Given the description of an element on the screen output the (x, y) to click on. 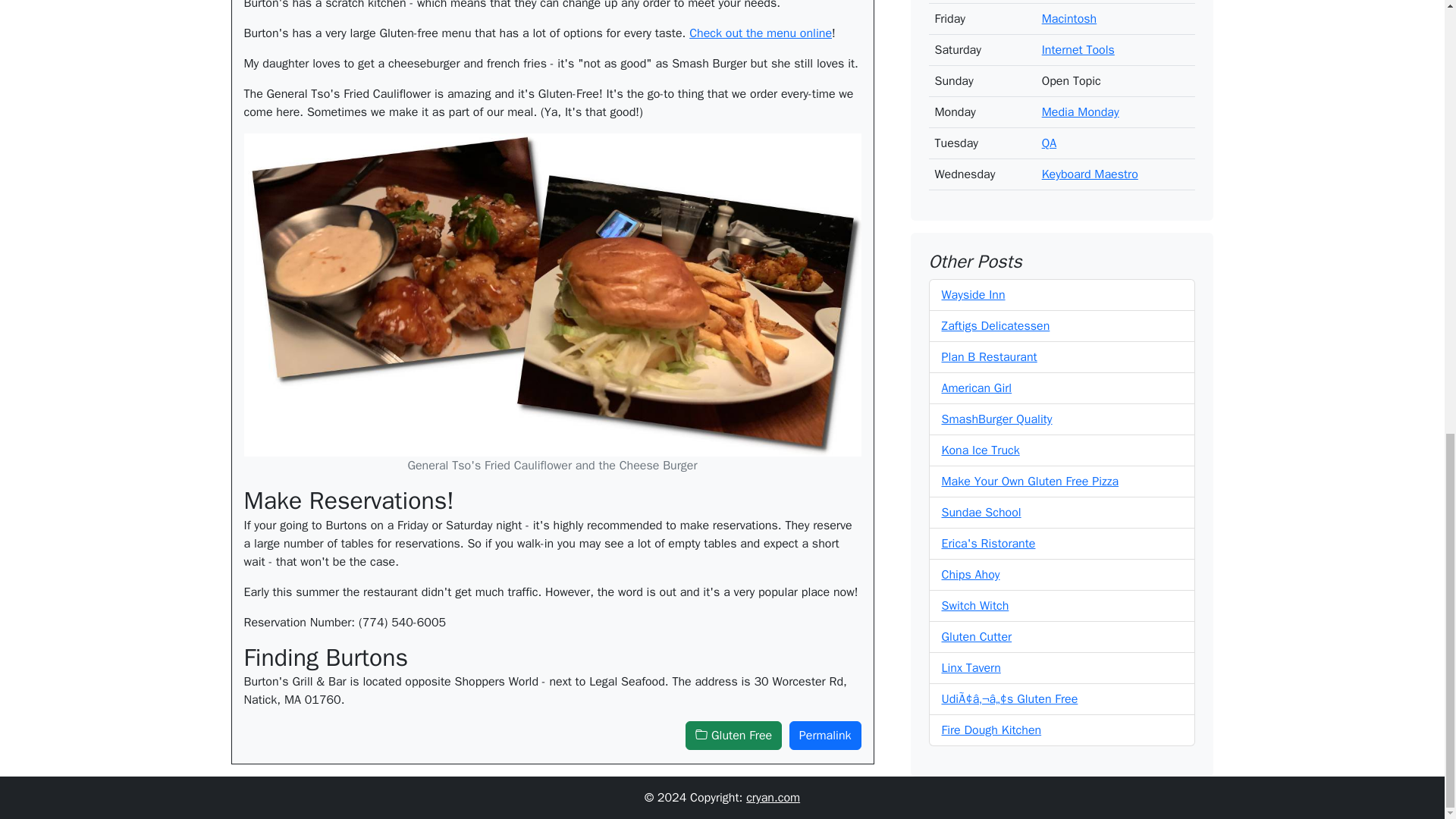
Switch Witch (975, 304)
Kona Ice Truck (981, 148)
Make Your Own Gluten Free Pizza (1030, 179)
SmashBurger Quality (997, 117)
Erica's Ristorante (988, 241)
Zaftigs Delicatessen (995, 23)
American Girl (976, 86)
Fire Dough Kitchen (992, 427)
Check out the menu online (759, 32)
Linx Tavern (971, 365)
Gluten Free (733, 735)
cryan.com (772, 797)
Permalink (825, 735)
Sundae School (982, 210)
Chips Ahoy (971, 272)
